Given the description of an element on the screen output the (x, y) to click on. 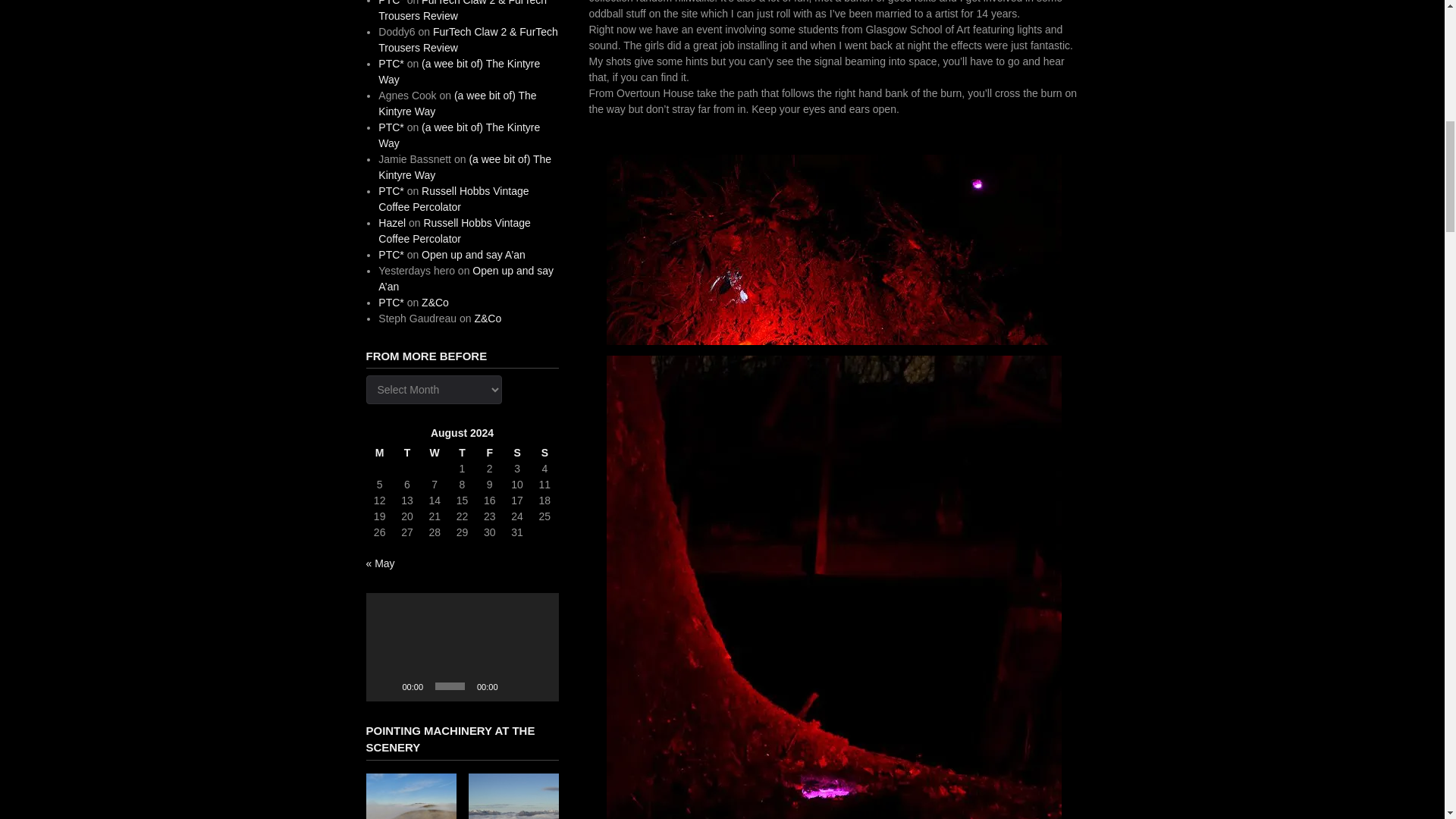
Saturday (517, 453)
Play (385, 685)
Wednesday (434, 453)
Mute (513, 685)
Tuesday (406, 453)
Friday (489, 453)
Fullscreen (538, 685)
Sunday (544, 453)
Monday (379, 453)
Thursday (462, 453)
